Given the description of an element on the screen output the (x, y) to click on. 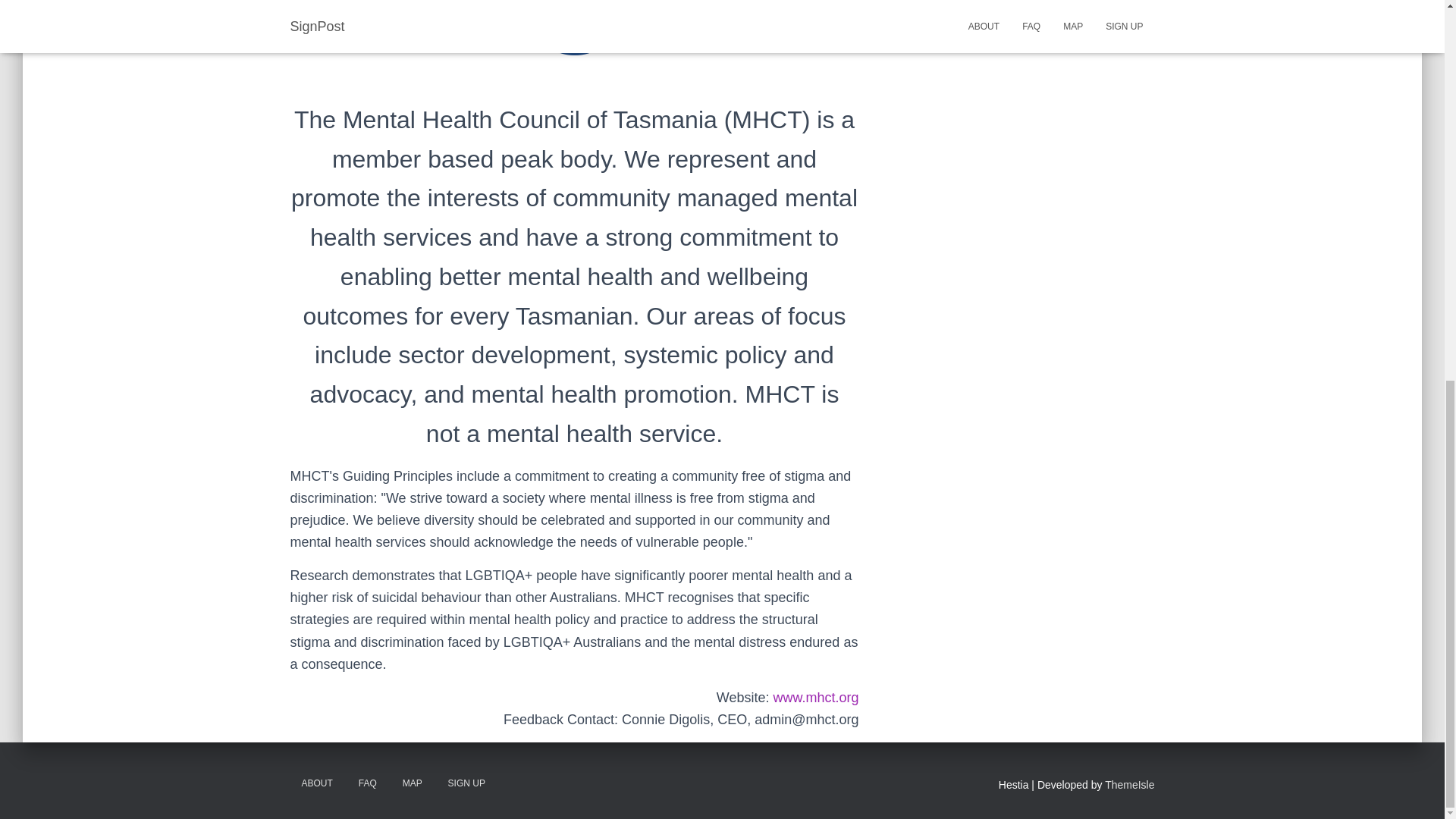
Safe Icon (573, 27)
www.mhct.org (816, 697)
ThemeIsle (1129, 784)
MAP (412, 783)
SIGN UP (466, 783)
FAQ (367, 783)
ABOUT (316, 783)
